Given the description of an element on the screen output the (x, y) to click on. 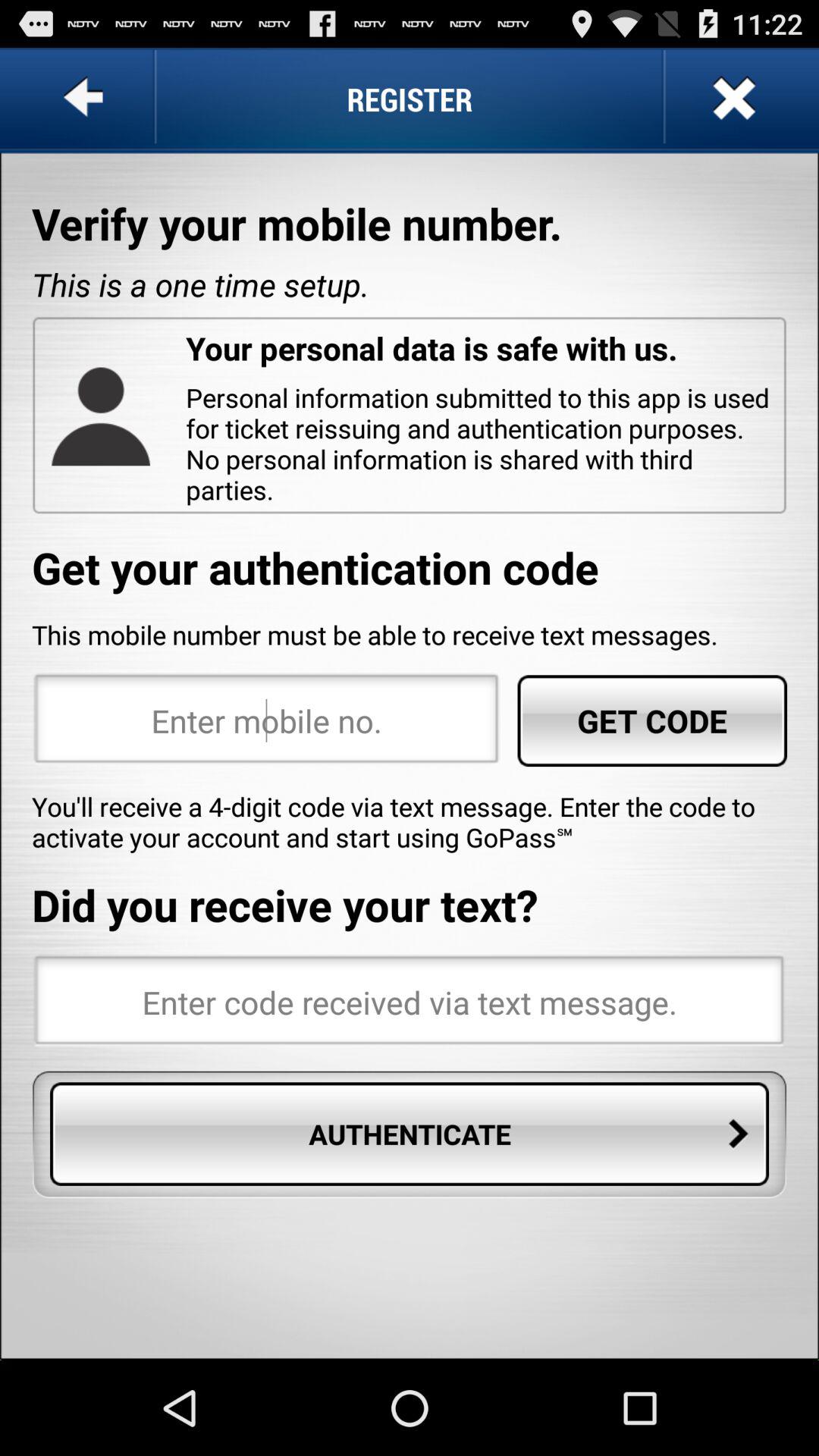
turn off item next to register item (732, 99)
